Given the description of an element on the screen output the (x, y) to click on. 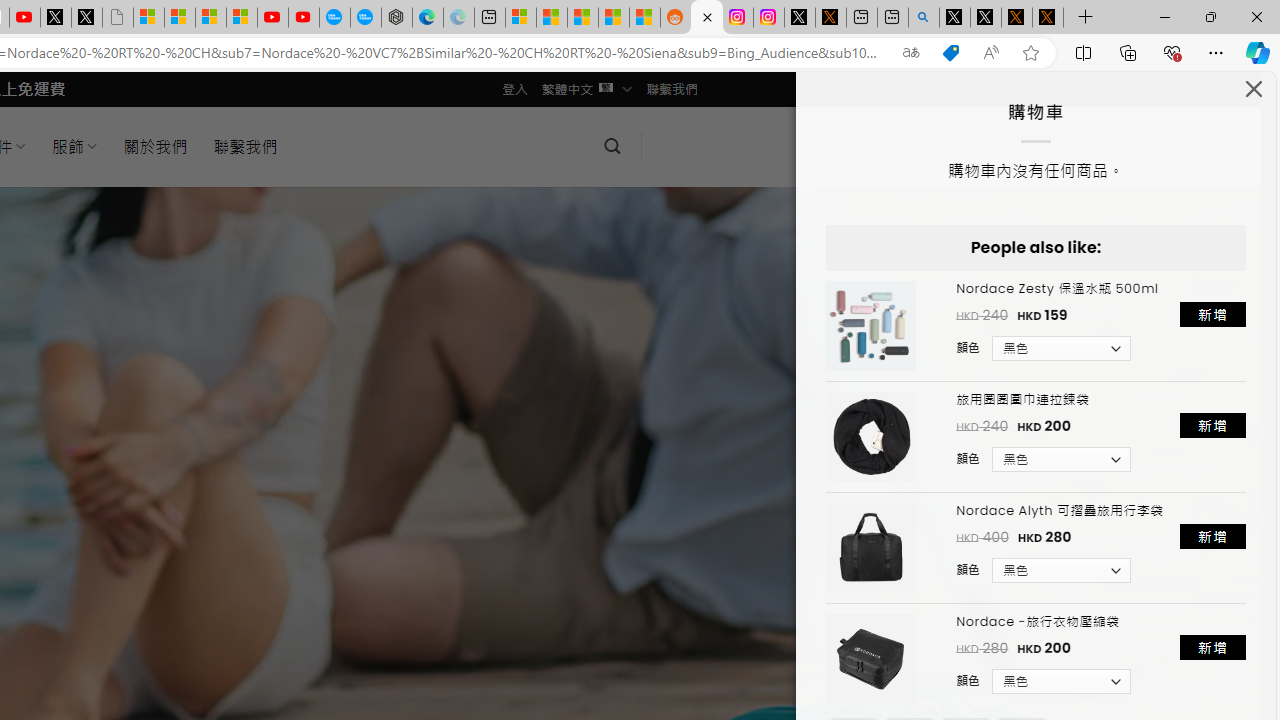
X Privacy Policy (1048, 17)
Untitled (117, 17)
Profile / X (954, 17)
GitHub (@github) / X (985, 17)
